Given the description of an element on the screen output the (x, y) to click on. 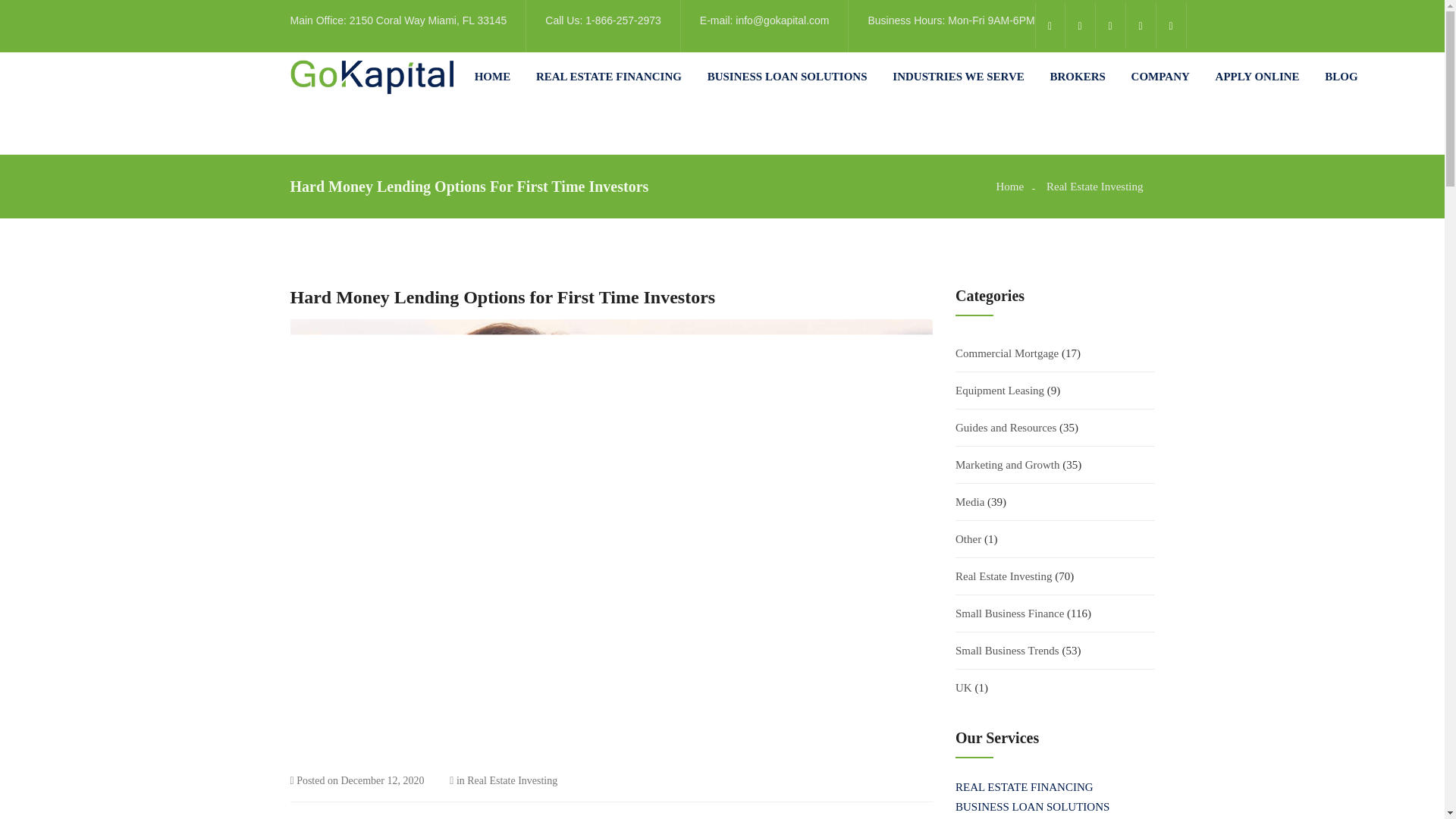
BUSINESS LOAN SOLUTIONS (787, 76)
INDUSTRIES WE SERVE (957, 76)
REAL ESTATE FINANCING (608, 76)
HOME (492, 76)
